Given the description of an element on the screen output the (x, y) to click on. 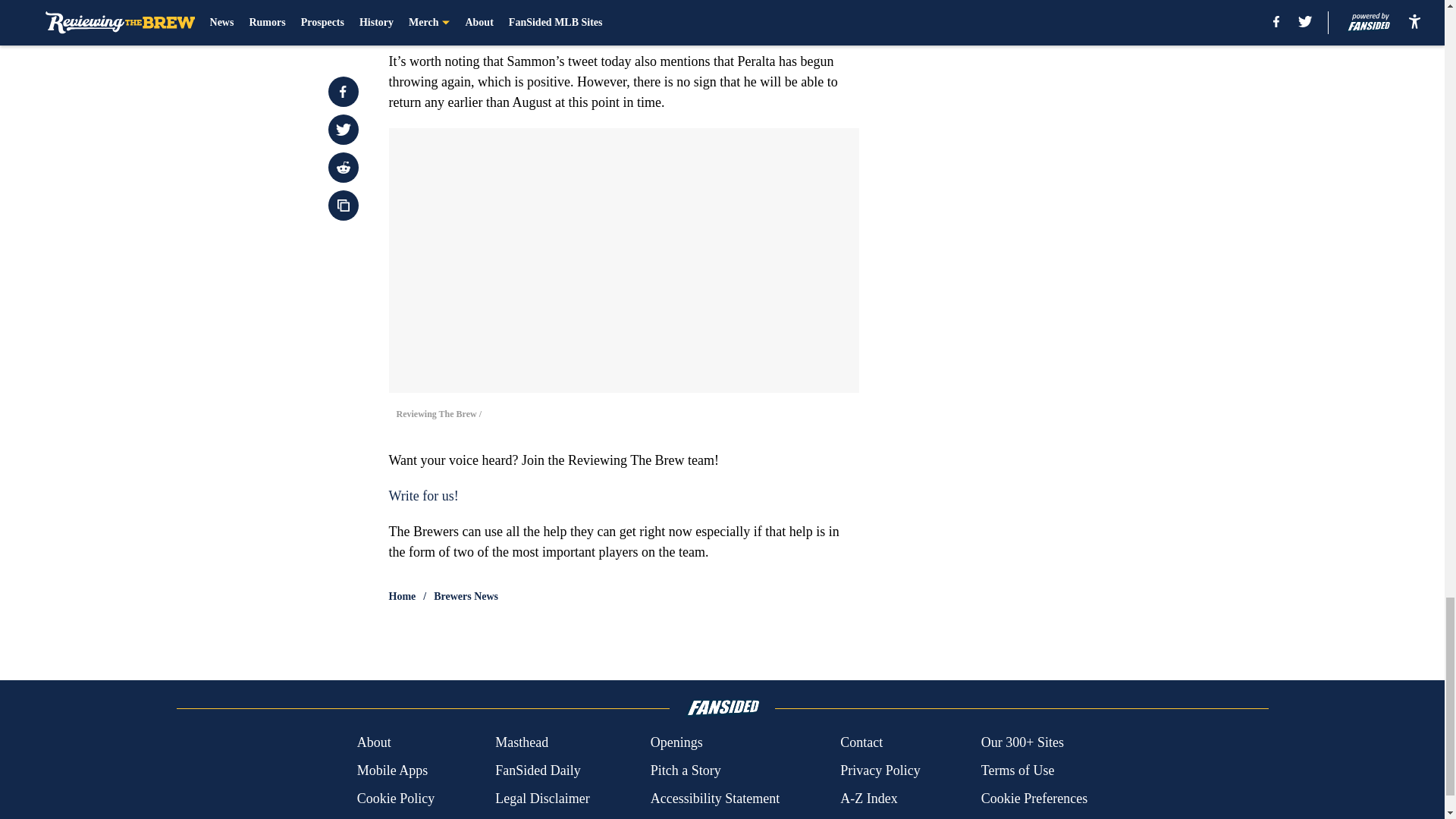
Openings (676, 742)
Home (401, 596)
Privacy Policy (880, 770)
Write for us! (423, 495)
Contact (861, 742)
FanSided Daily (537, 770)
Mobile Apps (392, 770)
Masthead (521, 742)
About (373, 742)
Terms of Use (1017, 770)
Brewers News (465, 596)
Pitch a Story (685, 770)
